Given the description of an element on the screen output the (x, y) to click on. 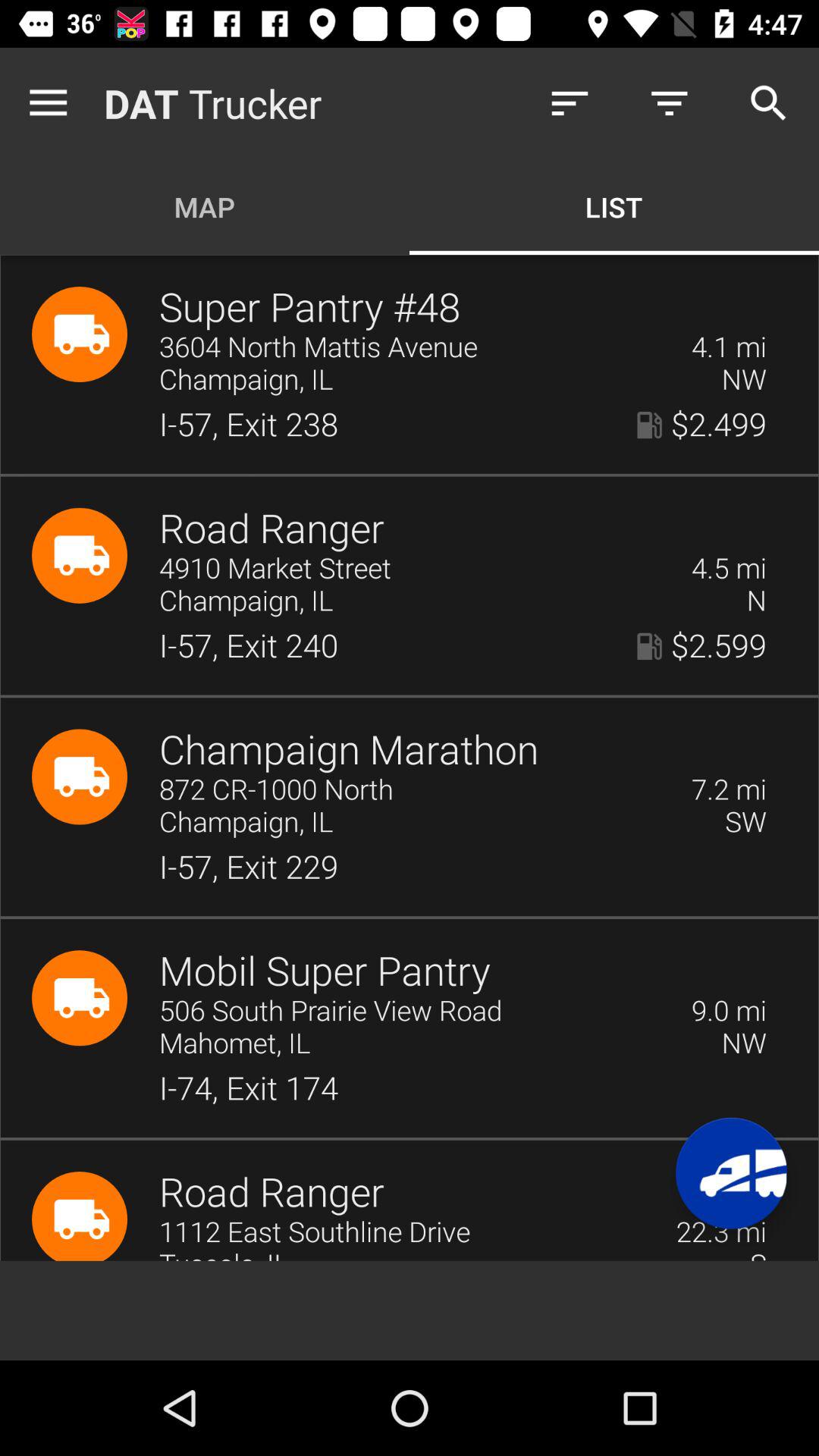
choose item above tuscola, il item (407, 1232)
